Given the description of an element on the screen output the (x, y) to click on. 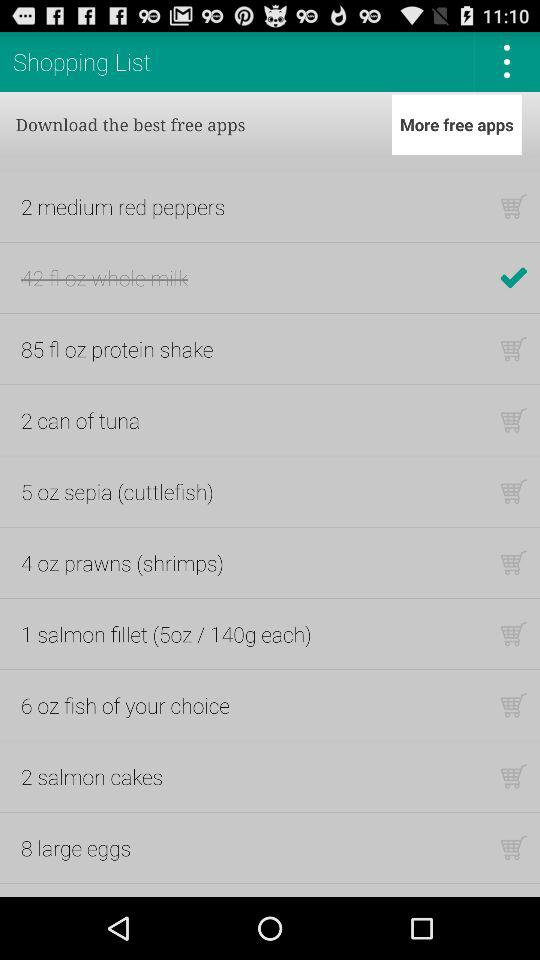
turn on app above 42 fl oz item (123, 206)
